Given the description of an element on the screen output the (x, y) to click on. 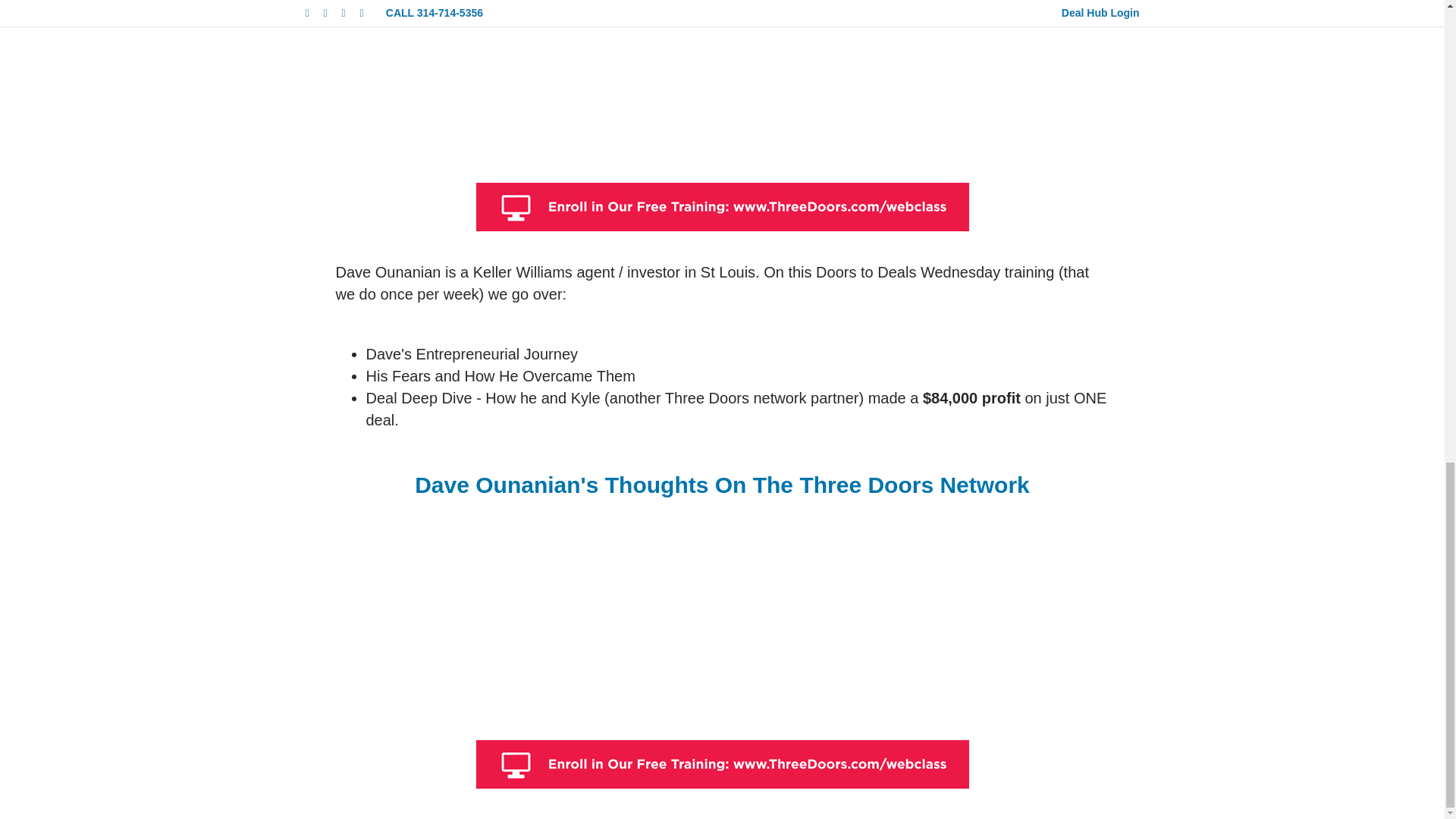
enroll-button (722, 206)
enroll-button (722, 764)
